Given the description of an element on the screen output the (x, y) to click on. 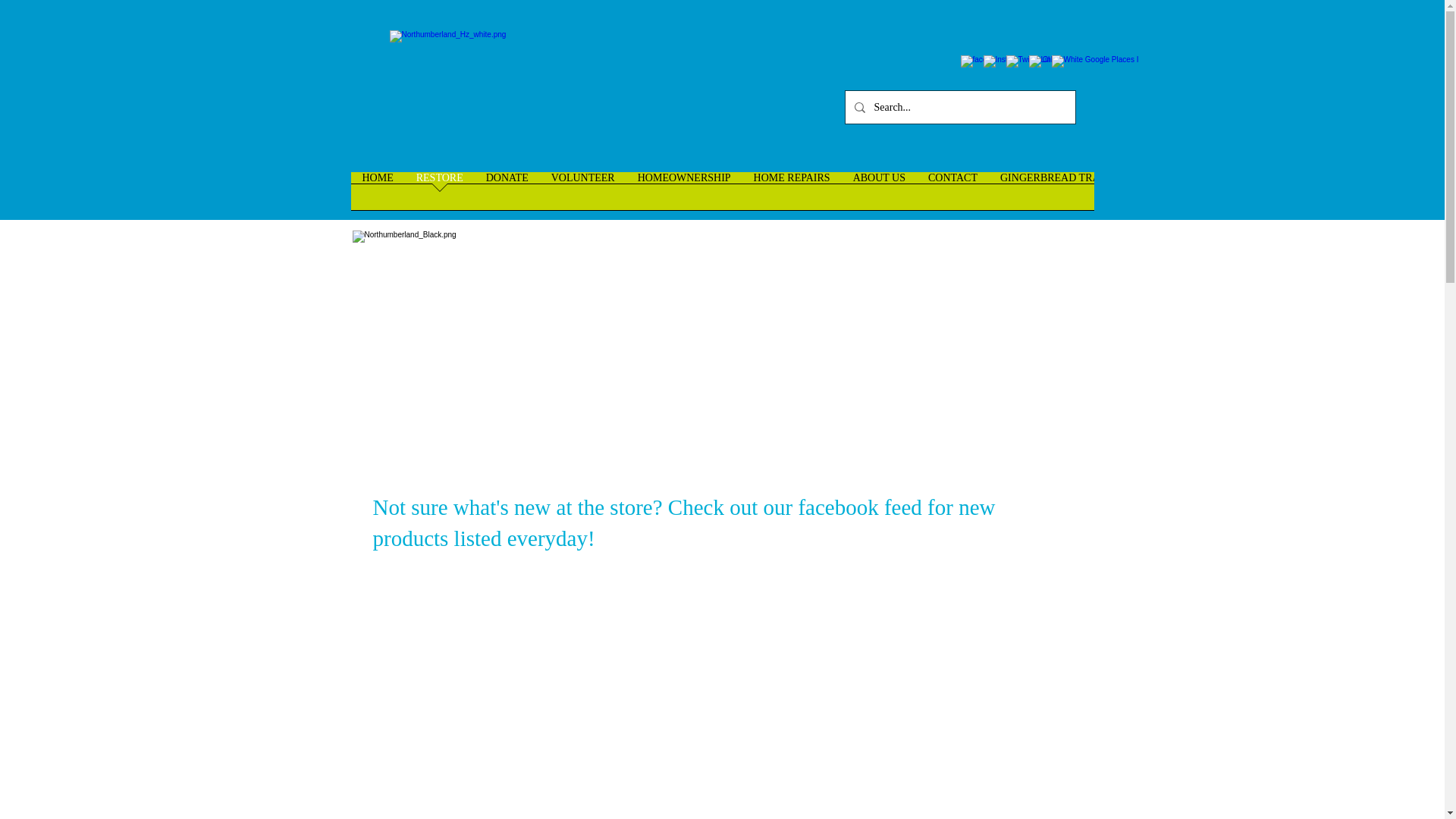
HOME (377, 195)
RESTORE (439, 195)
HOME REPAIRS (791, 195)
DONATE (507, 195)
CONTACT (952, 195)
HOMEOWNERSHIP (684, 195)
ABOUT US (879, 195)
VOLUNTEER (583, 195)
